Given the description of an element on the screen output the (x, y) to click on. 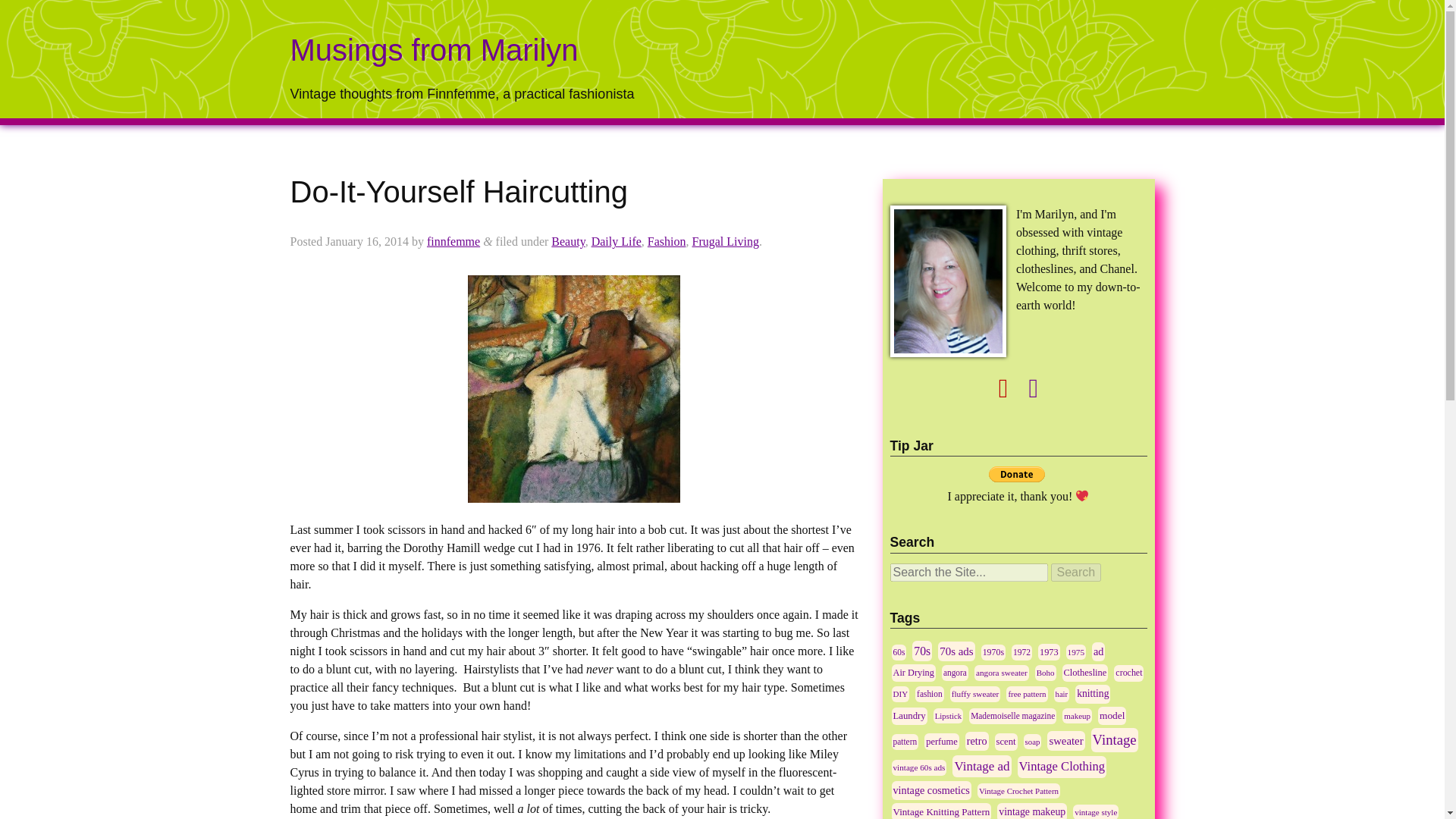
Air Drying (913, 672)
Beauty (568, 241)
PayPal - The safer, easier way to pay online! (1016, 474)
Daily Life (616, 241)
Posts by finnfemme (453, 241)
Musings from Marilyn (433, 49)
Search (1076, 572)
Clothesline (1085, 672)
angora (955, 672)
70s (921, 650)
1970s (993, 652)
crochet (1127, 673)
Fashion (666, 241)
angora sweater (1001, 672)
1972 (1021, 652)
